Given the description of an element on the screen output the (x, y) to click on. 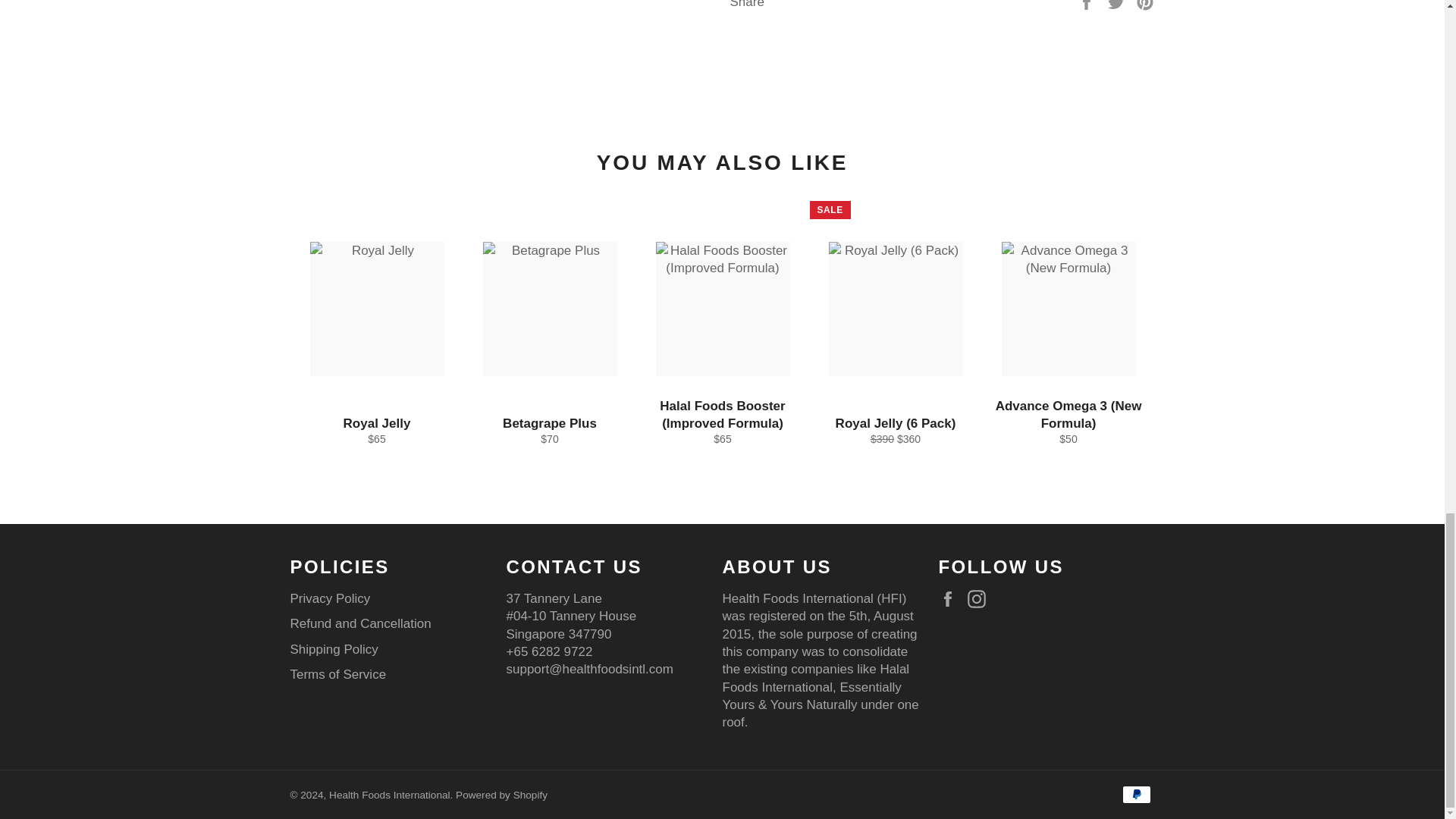
Health Foods International on Instagram (980, 599)
Tweet on Twitter (1117, 4)
Share on Facebook (1088, 4)
Pin on Pinterest (1144, 4)
Health Foods International on Facebook (951, 599)
